Given the description of an element on the screen output the (x, y) to click on. 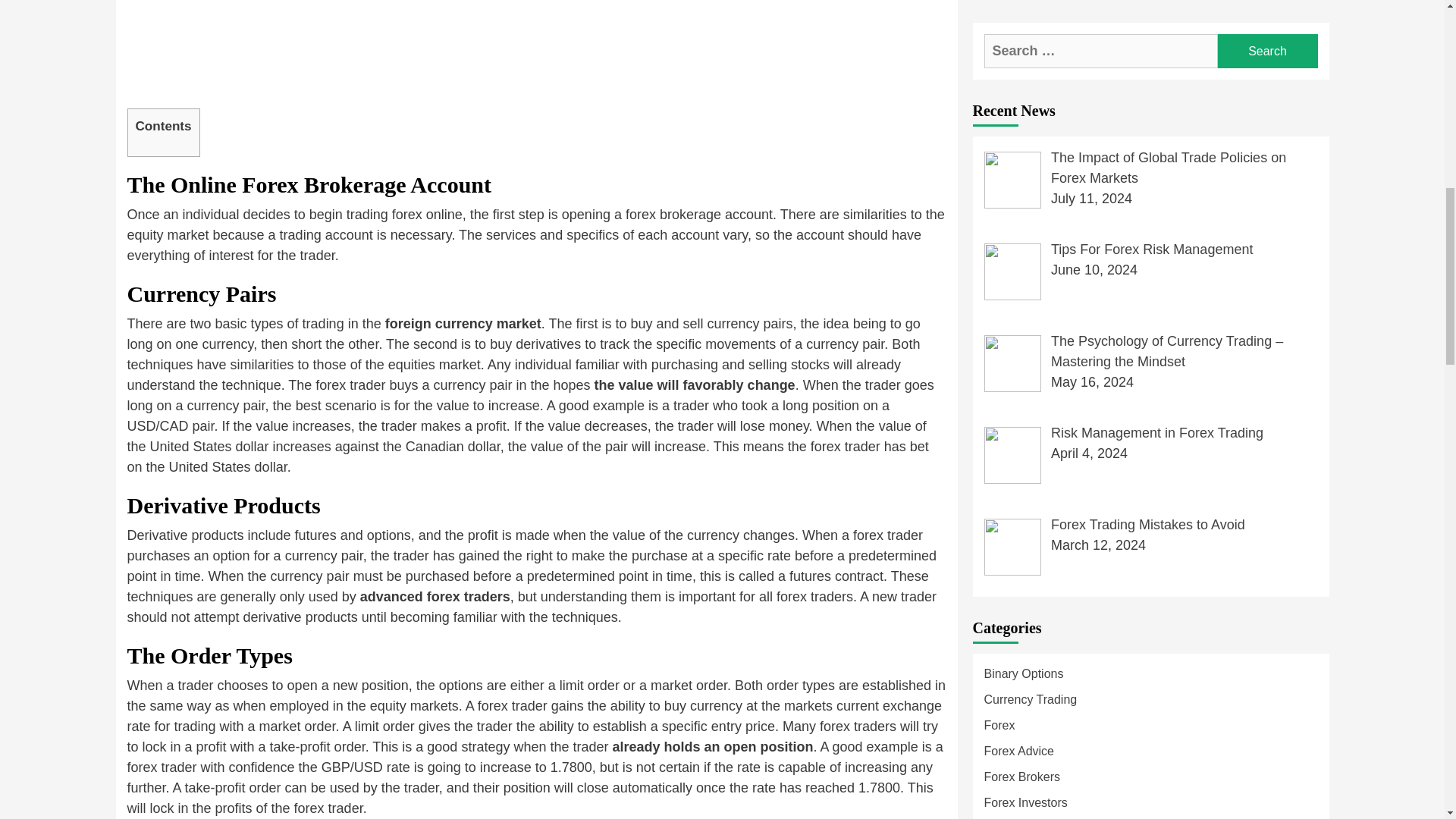
Binary Options (1150, 94)
Currency Trading (1150, 119)
